Given the description of an element on the screen output the (x, y) to click on. 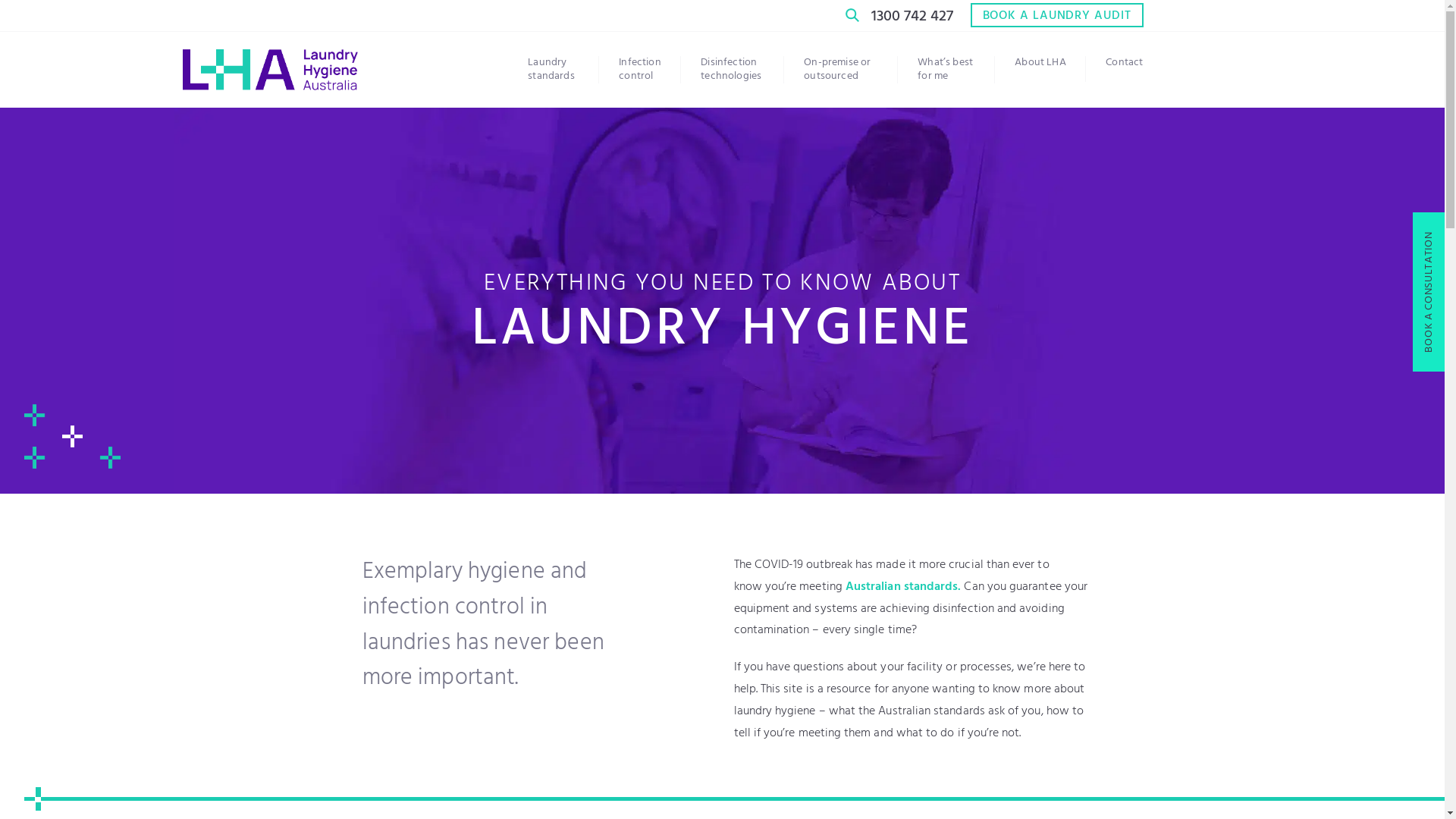
1300 742 427 Element type: text (911, 16)
Disinfection technologies Element type: text (735, 69)
Contact Element type: text (1123, 62)
On-premise or outsourced Element type: text (838, 69)
Laundry standards Element type: text (562, 69)
About LHA Element type: text (1049, 62)
BOOK A LAUNDRY AUDIT Element type: text (1056, 15)
Infection control Element type: text (649, 69)
Australian standards. Element type: text (902, 586)
